Given the description of an element on the screen output the (x, y) to click on. 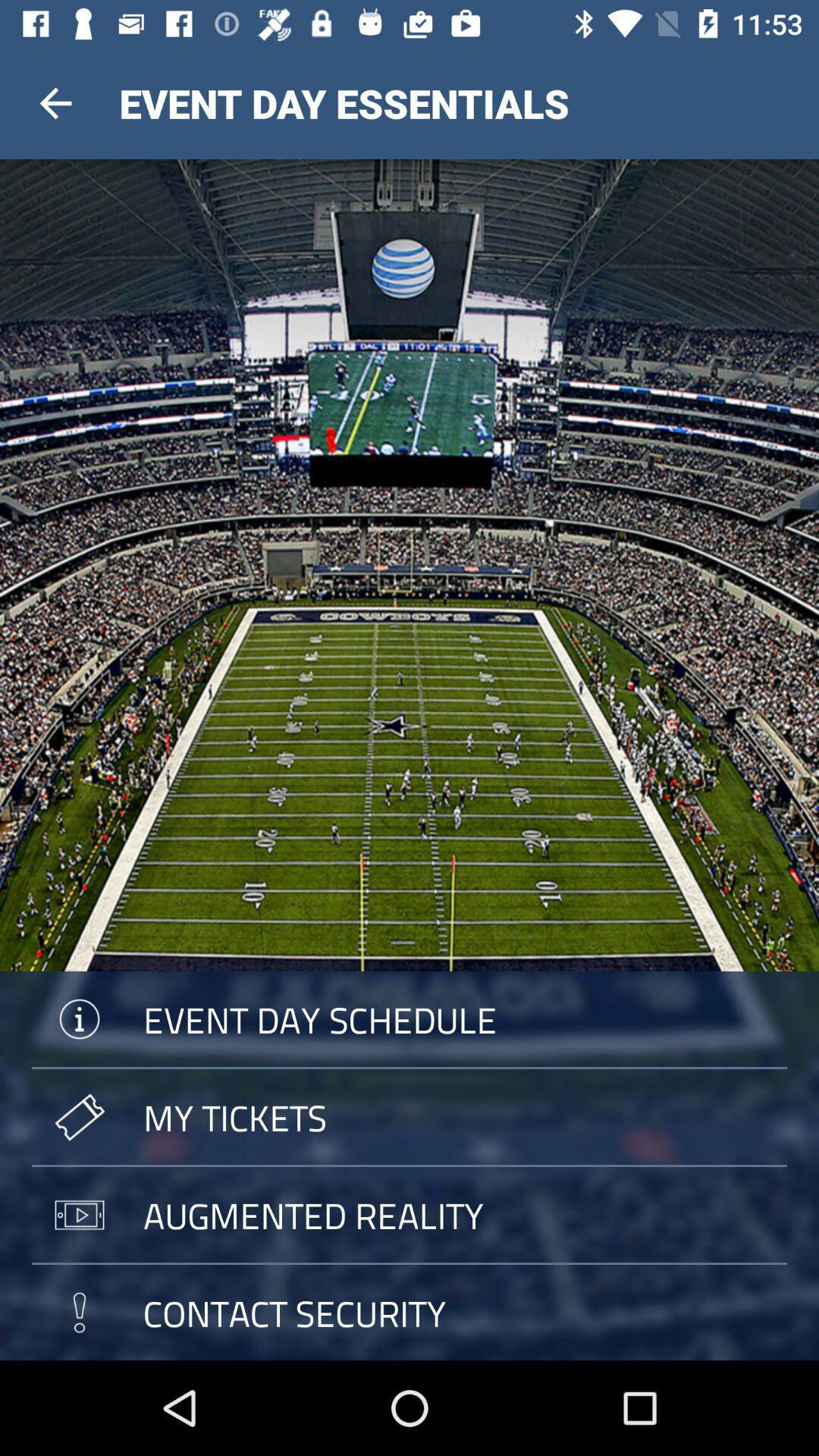
press contact security icon (409, 1312)
